Given the description of an element on the screen output the (x, y) to click on. 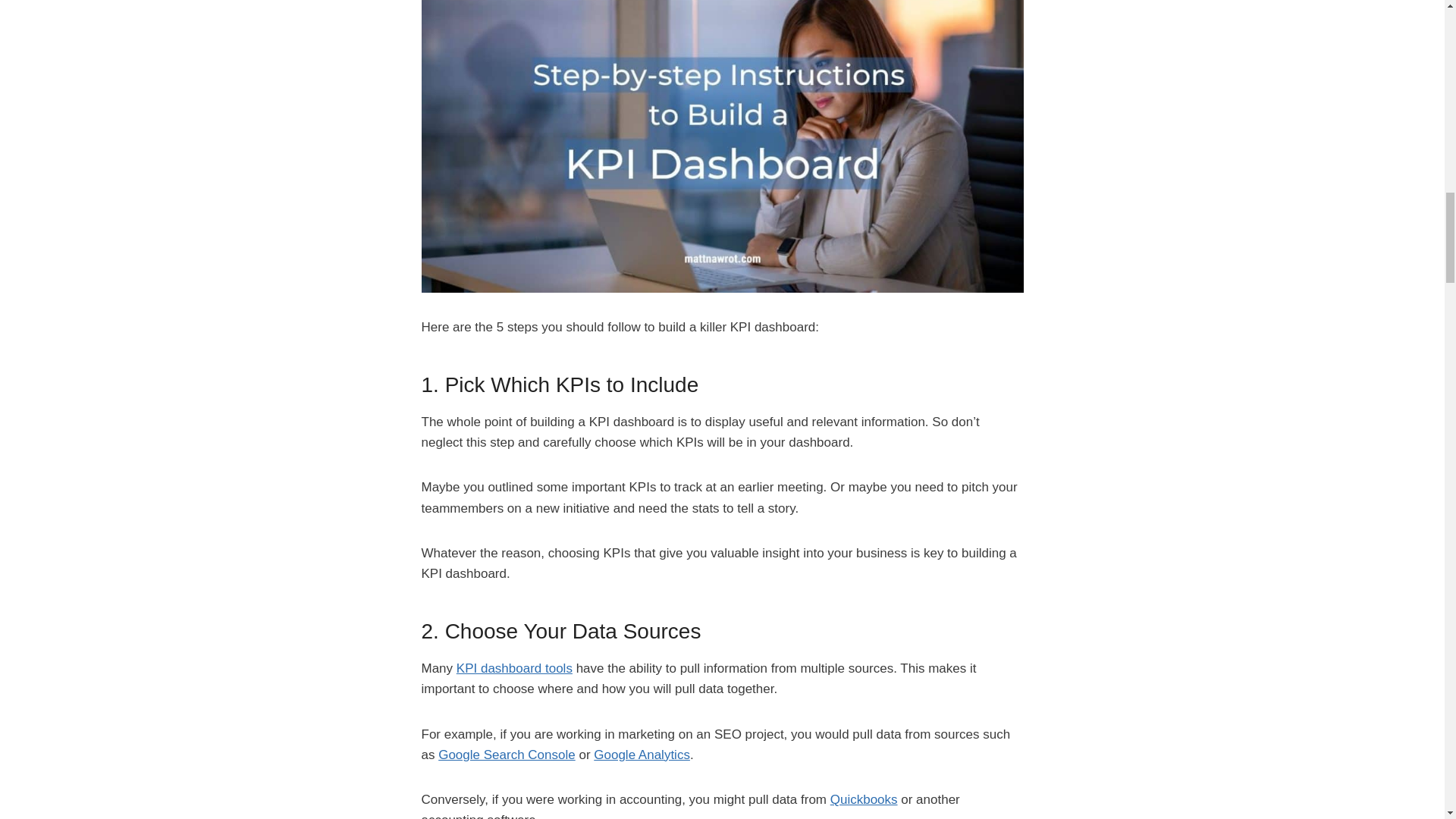
KPI dashboard tools (514, 667)
Google Search Console (506, 754)
Google Analytics (642, 754)
Quickbooks (863, 799)
